Given the description of an element on the screen output the (x, y) to click on. 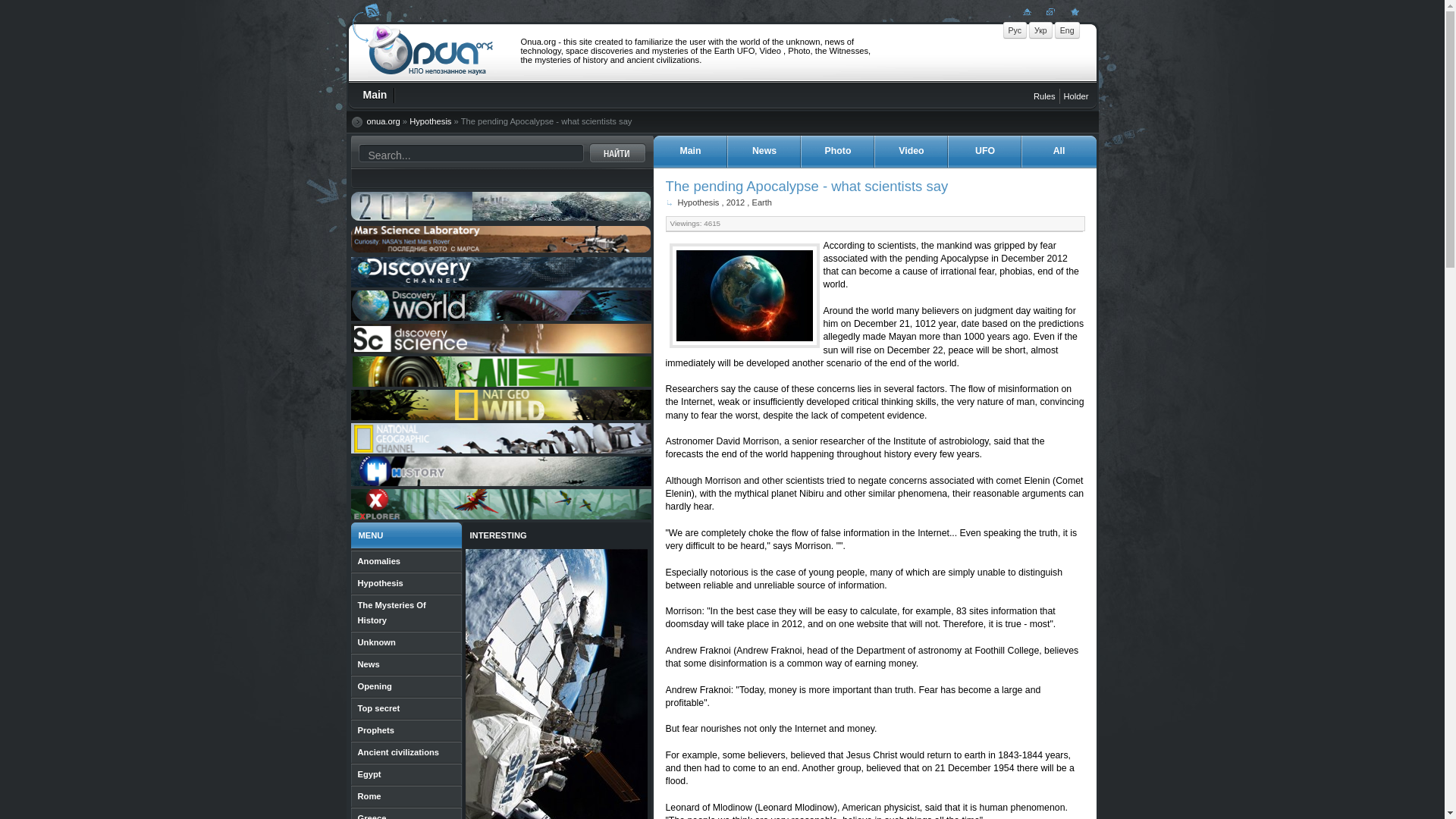
Unknown (405, 642)
Rome (405, 796)
Main (376, 95)
Opening (405, 686)
The world of the unknown - Onua.org (1072, 10)
Find (616, 152)
The world of the unknown - Onua.org (429, 52)
Hypothesis (430, 121)
The rules on the website Onua.org (1044, 95)
In bookmarks - World of the unknown - Onua.org (1074, 11)
